Given the description of an element on the screen output the (x, y) to click on. 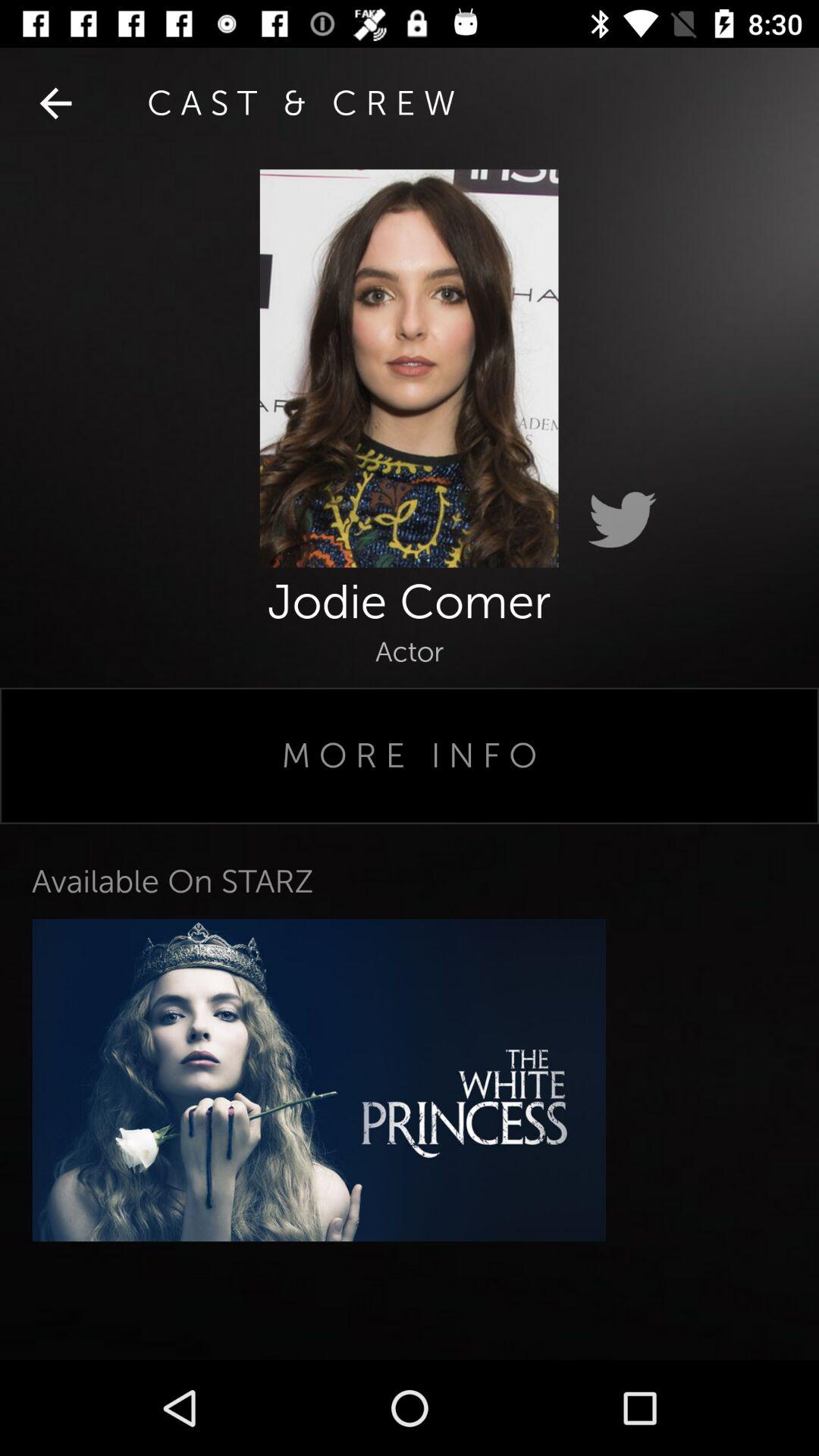
share the article by pressing the bird icon to the right (622, 520)
